Given the description of an element on the screen output the (x, y) to click on. 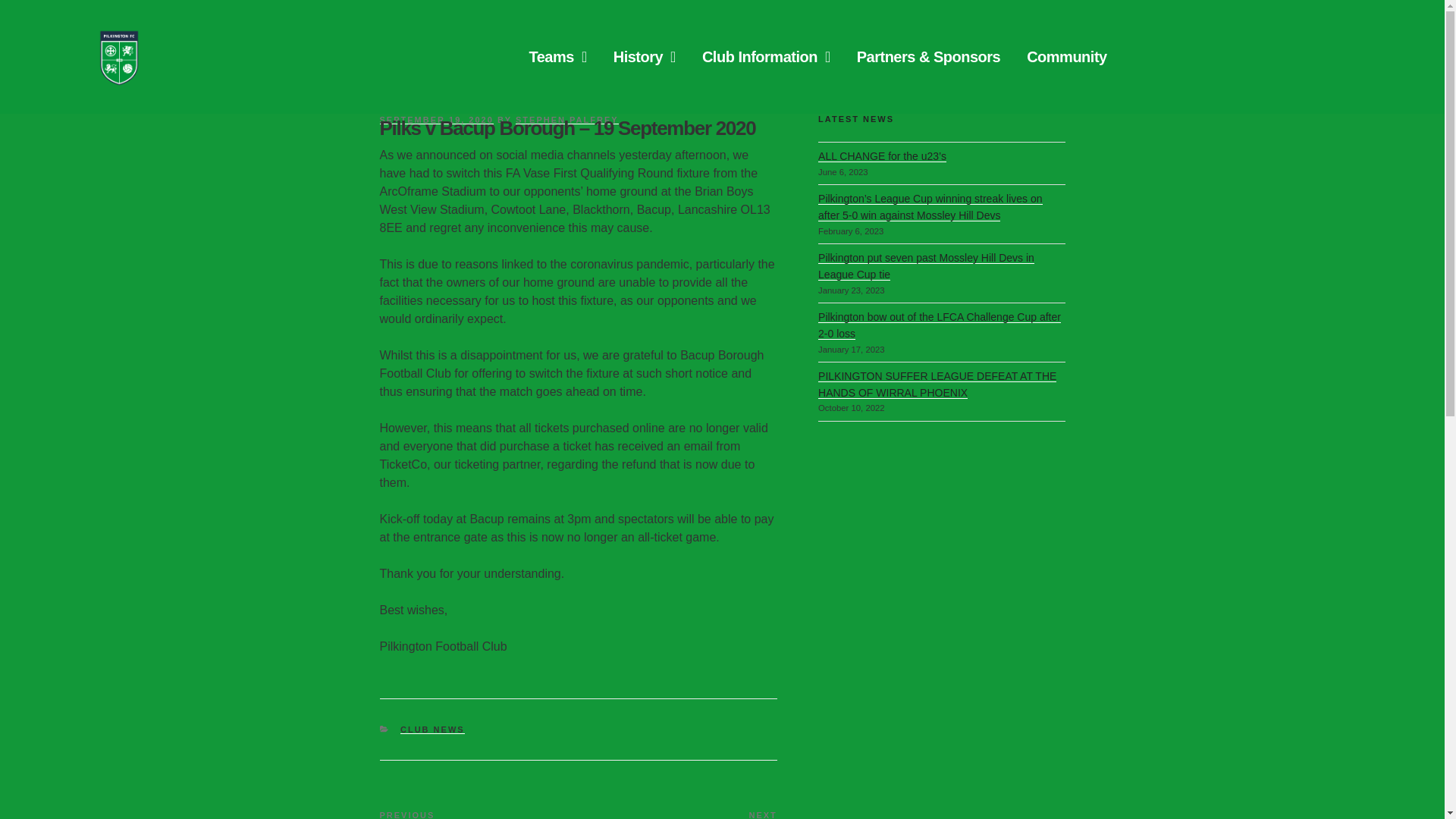
Club Information (766, 56)
Community (1067, 56)
History (643, 56)
Teams (557, 56)
